Given the description of an element on the screen output the (x, y) to click on. 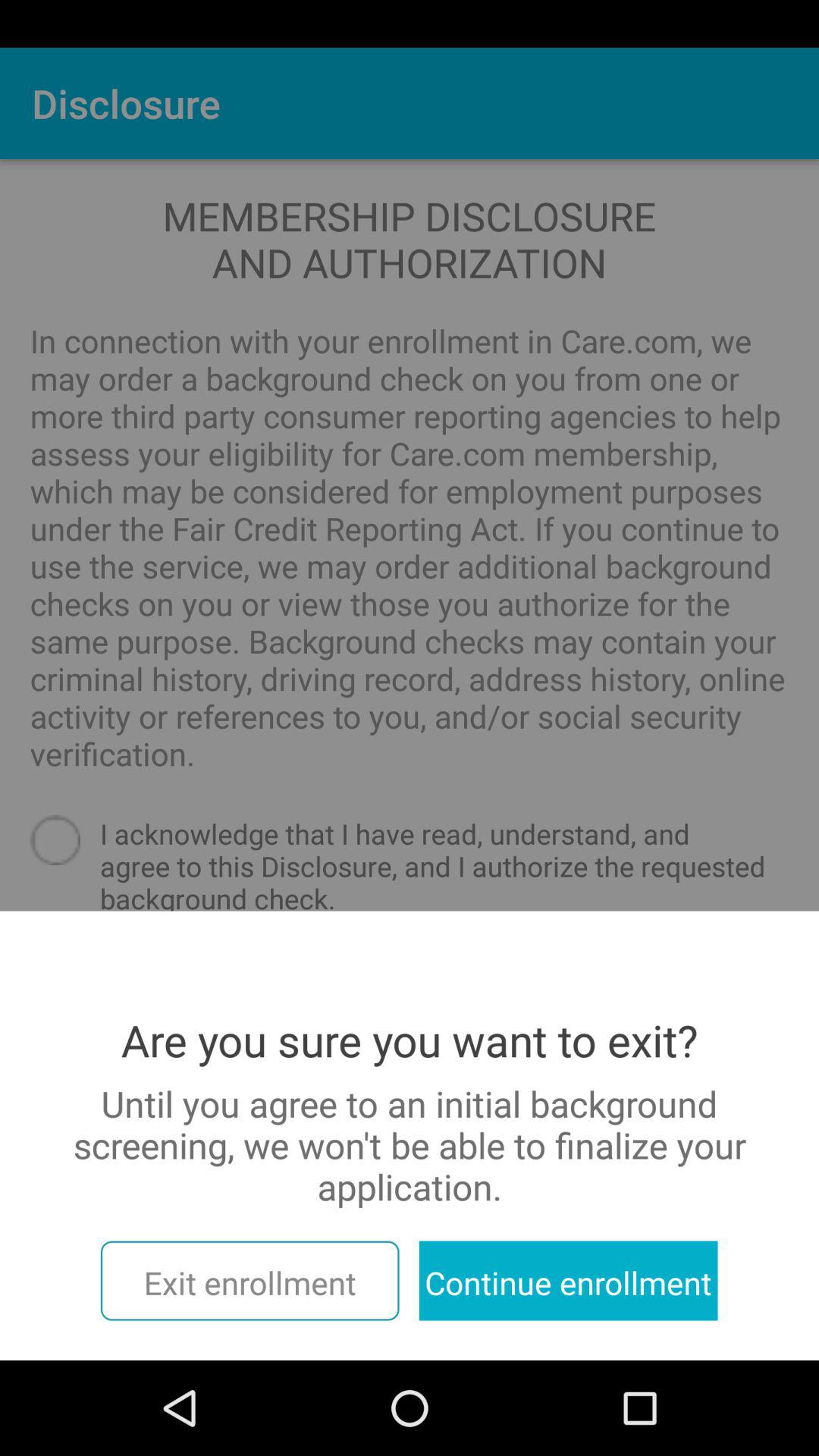
turn off the item to the right of exit enrollment (568, 1280)
